Given the description of an element on the screen output the (x, y) to click on. 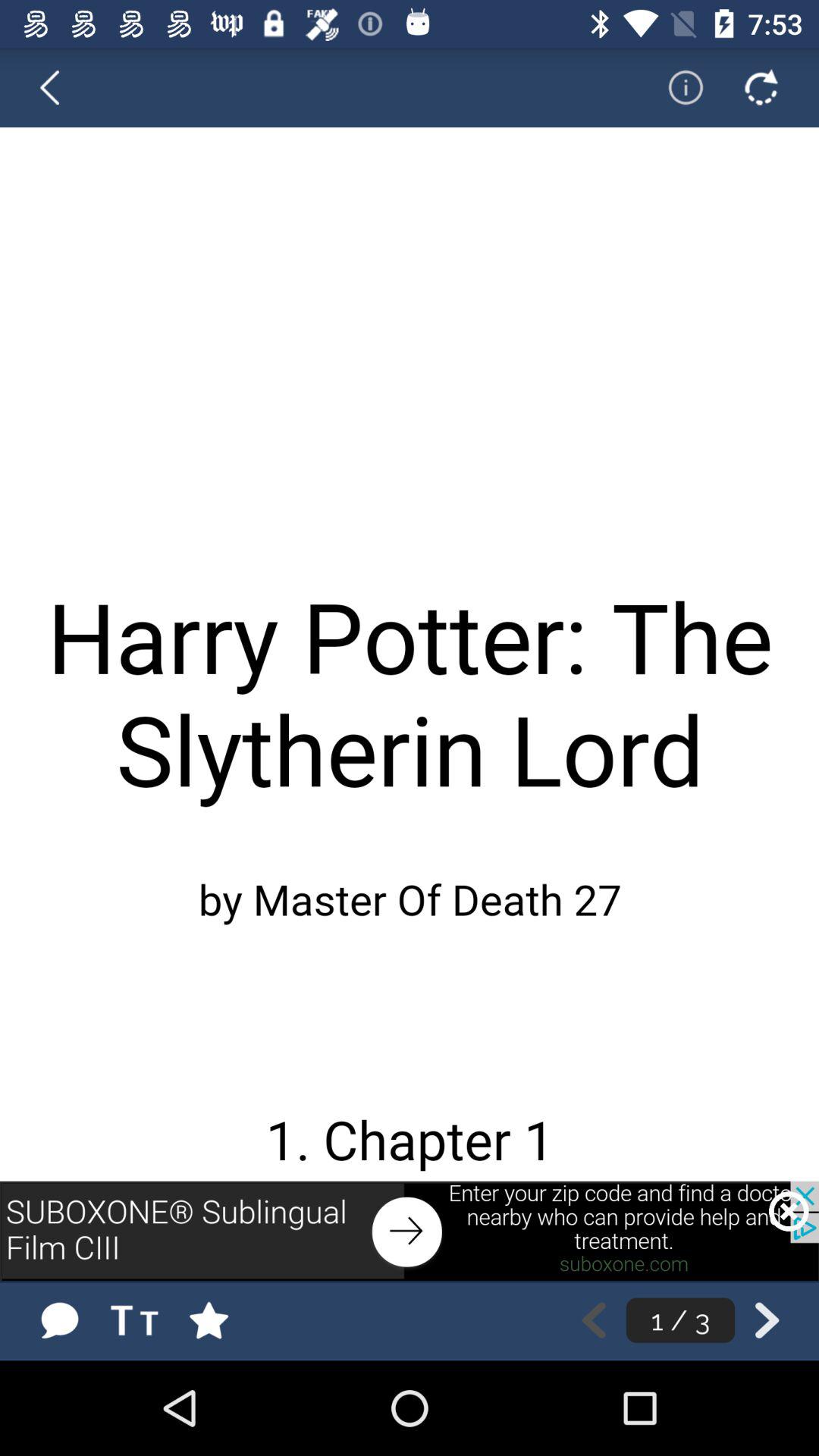
go to next page (767, 1320)
